Given the description of an element on the screen output the (x, y) to click on. 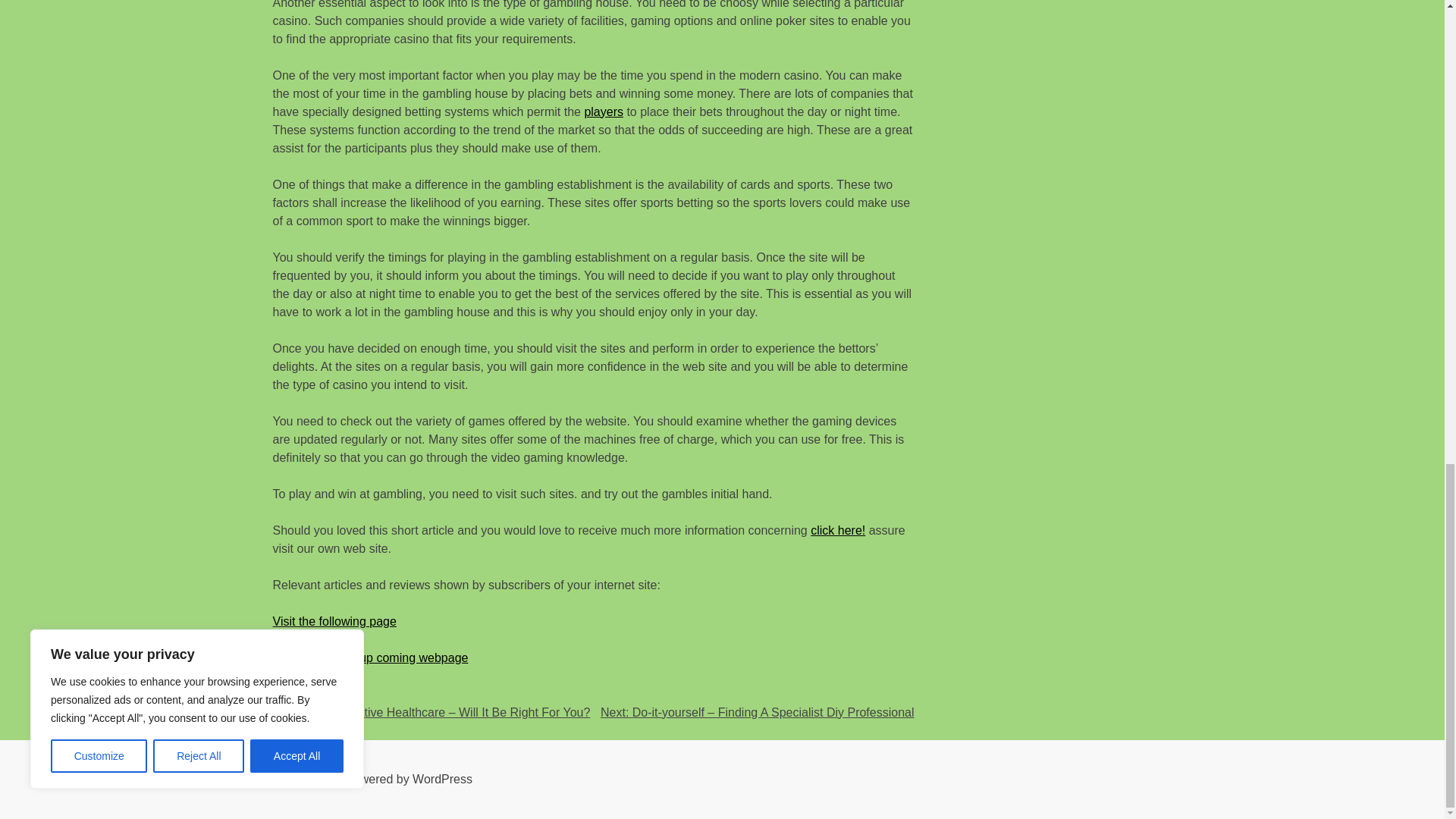
mouse click the up coming webpage (370, 657)
players (603, 111)
click here! (837, 530)
Visit the following page (334, 621)
